Given the description of an element on the screen output the (x, y) to click on. 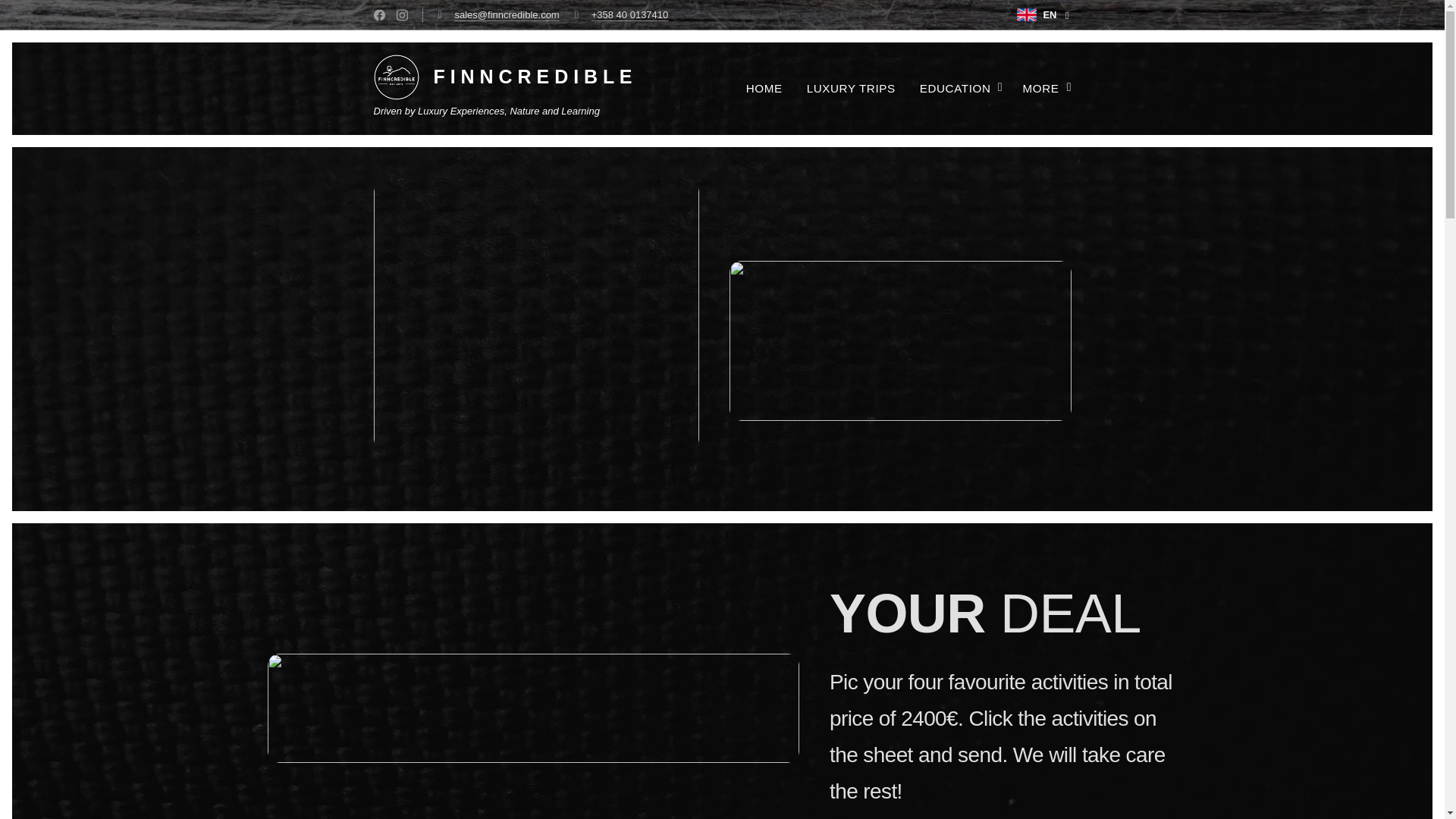
 F I N N C R E D I B L E  (506, 77)
MORE (1040, 88)
HOME (768, 88)
EDUCATION (958, 88)
LUXURY TRIPS (850, 88)
